Given the description of an element on the screen output the (x, y) to click on. 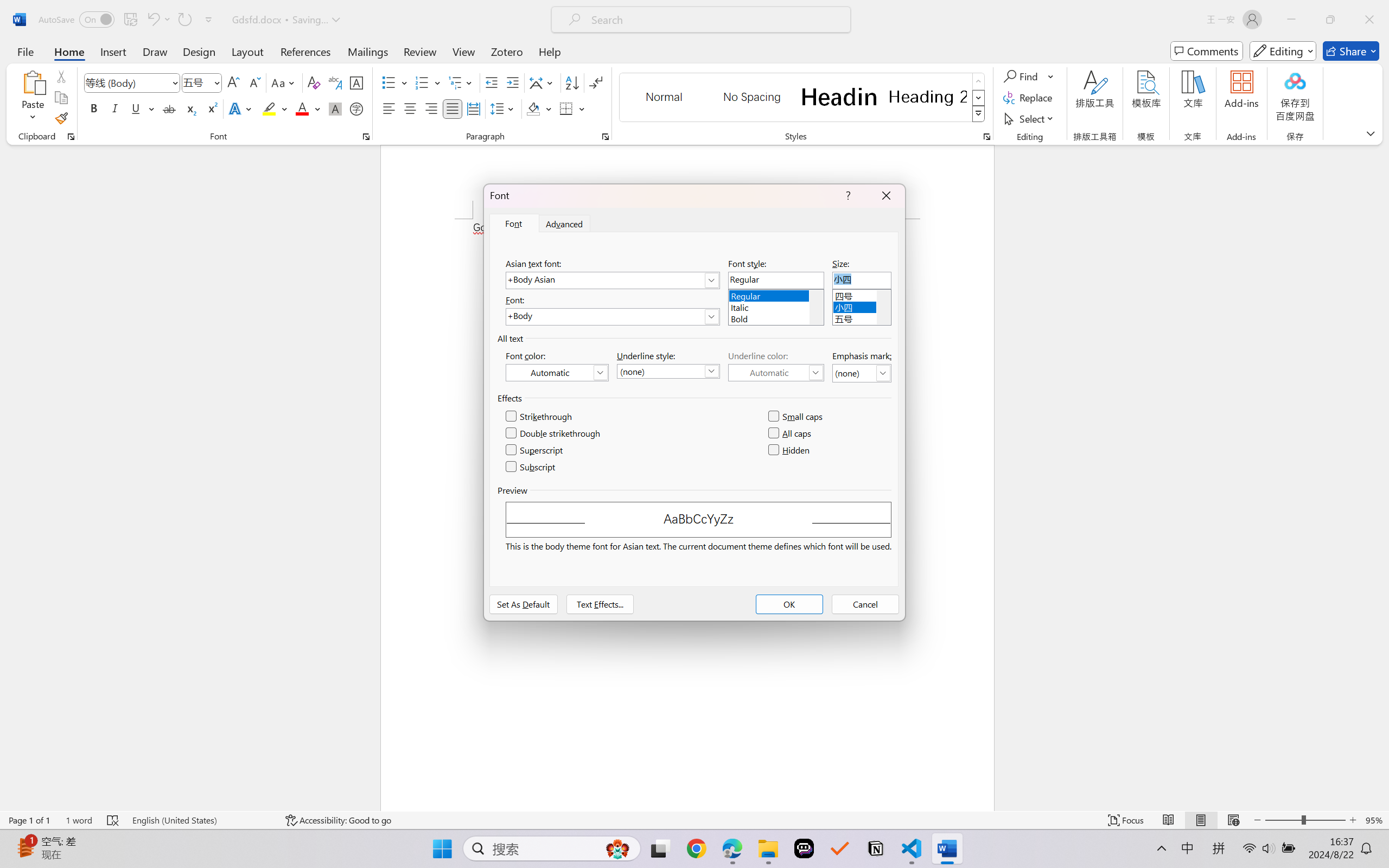
Superscript (535, 450)
Clear Formatting (313, 82)
Font Color Red (302, 108)
Text Highlight Color Yellow (269, 108)
Underline Color (Automatic) (775, 372)
Distributed (473, 108)
Small caps (796, 416)
Shrink Font (253, 82)
Set As Default (523, 603)
